Given the description of an element on the screen output the (x, y) to click on. 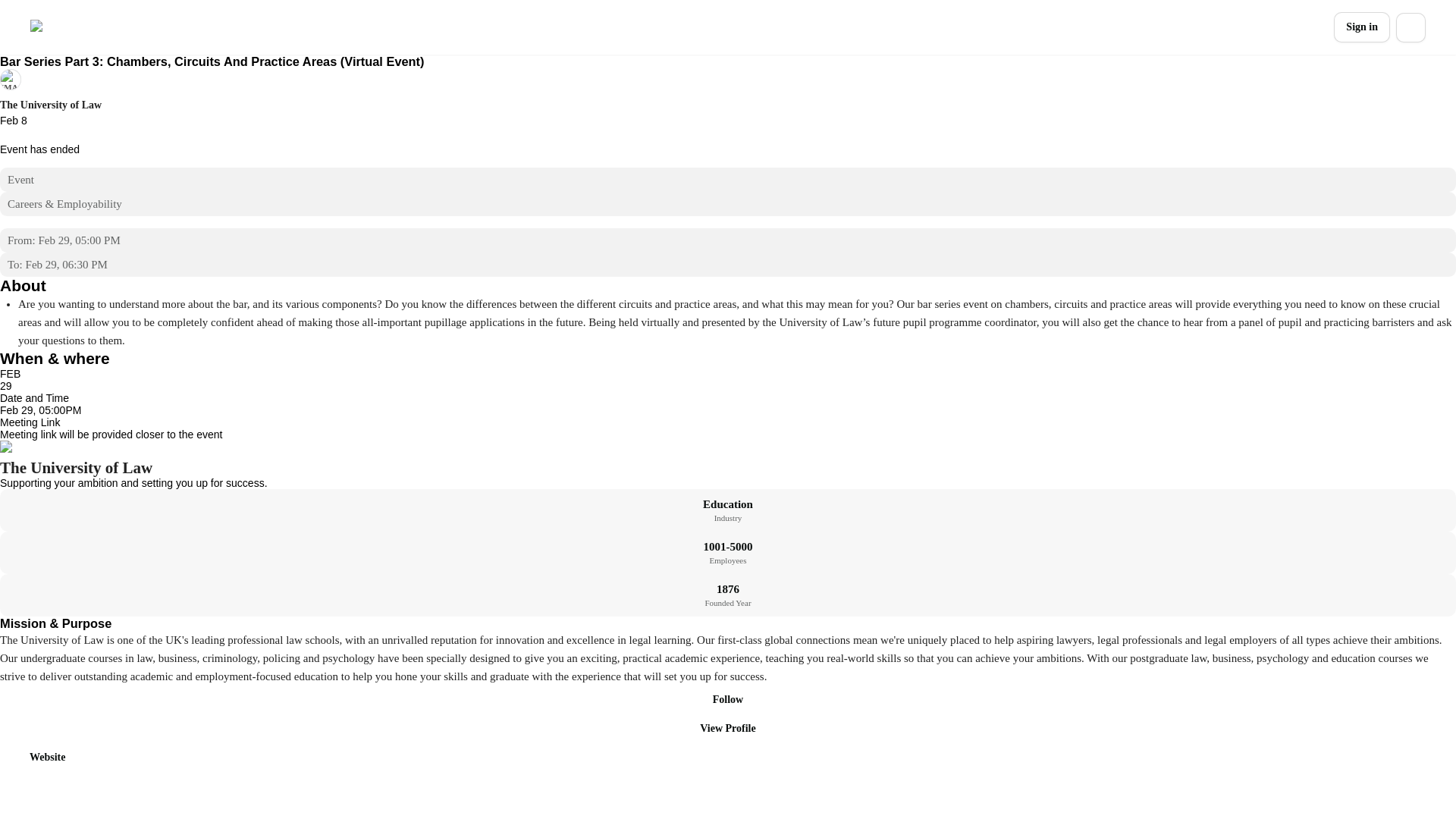
Website (38, 757)
The University of Law (50, 104)
Sign in (1361, 27)
